Given the description of an element on the screen output the (x, y) to click on. 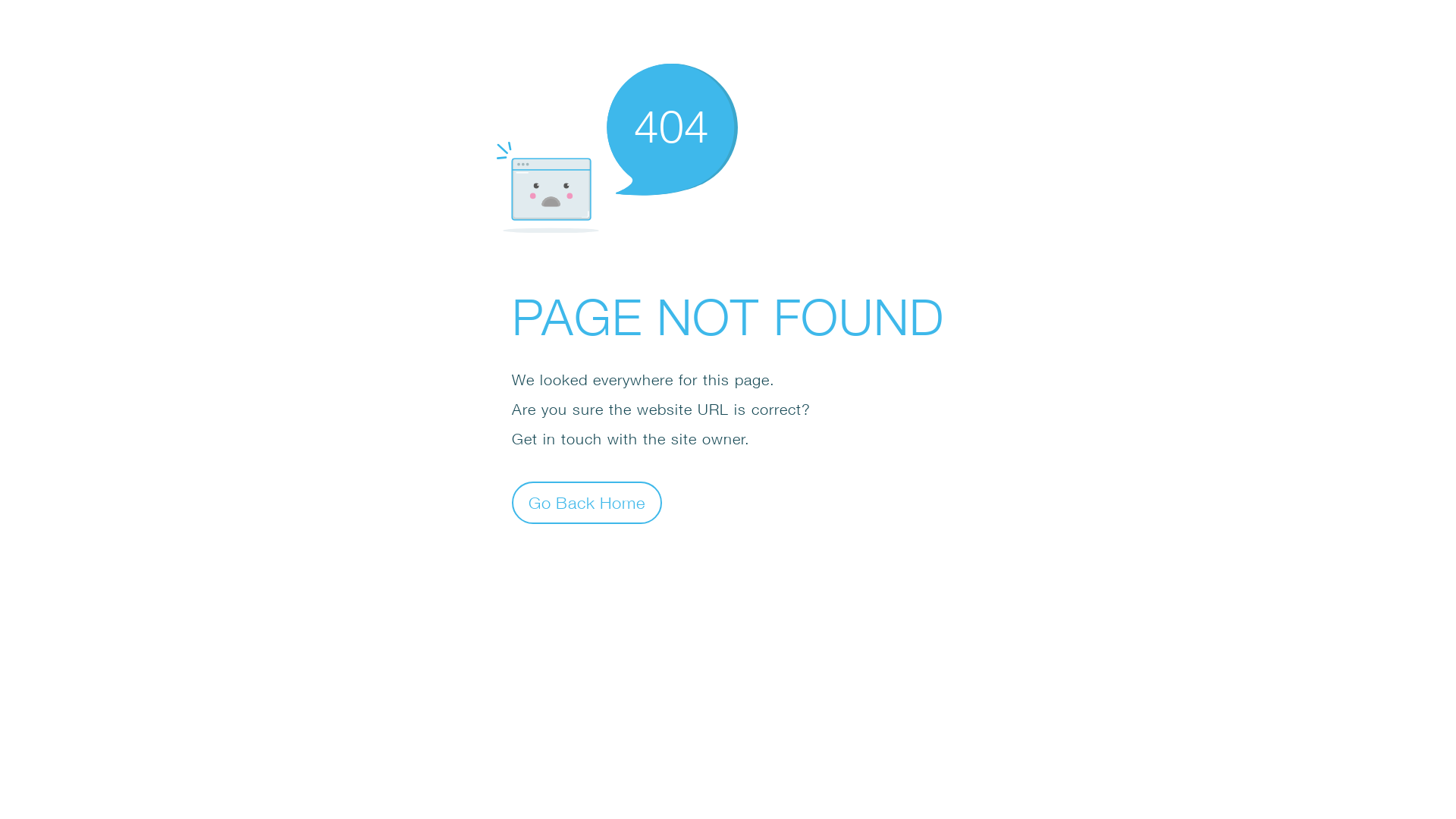
Go Back Home Element type: text (586, 502)
